Given the description of an element on the screen output the (x, y) to click on. 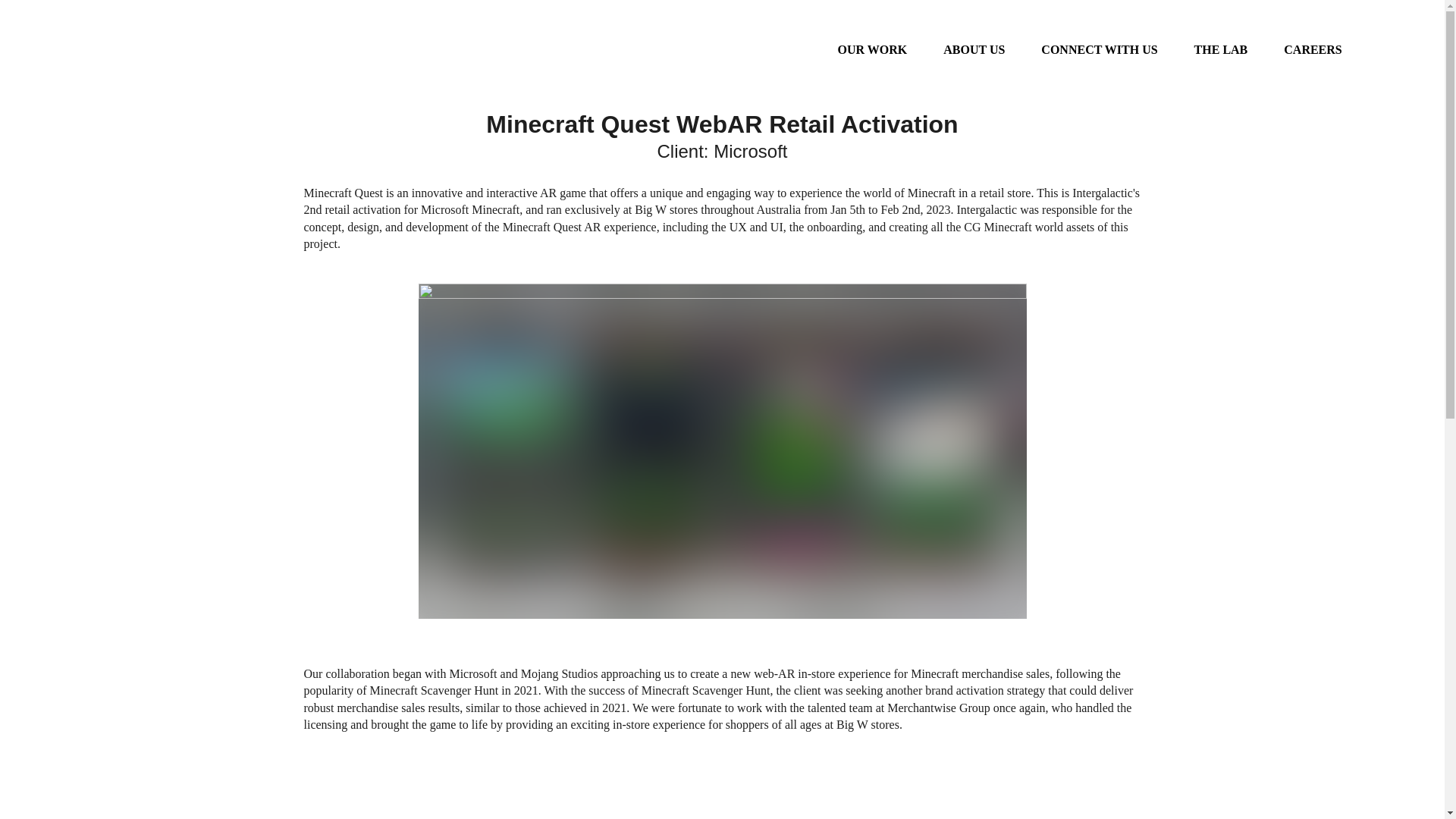
THE LAB (1220, 49)
OUR WORK (872, 49)
CAREERS (1312, 49)
CONNECT WITH US (1099, 49)
ABOUT US (973, 49)
